Given the description of an element on the screen output the (x, y) to click on. 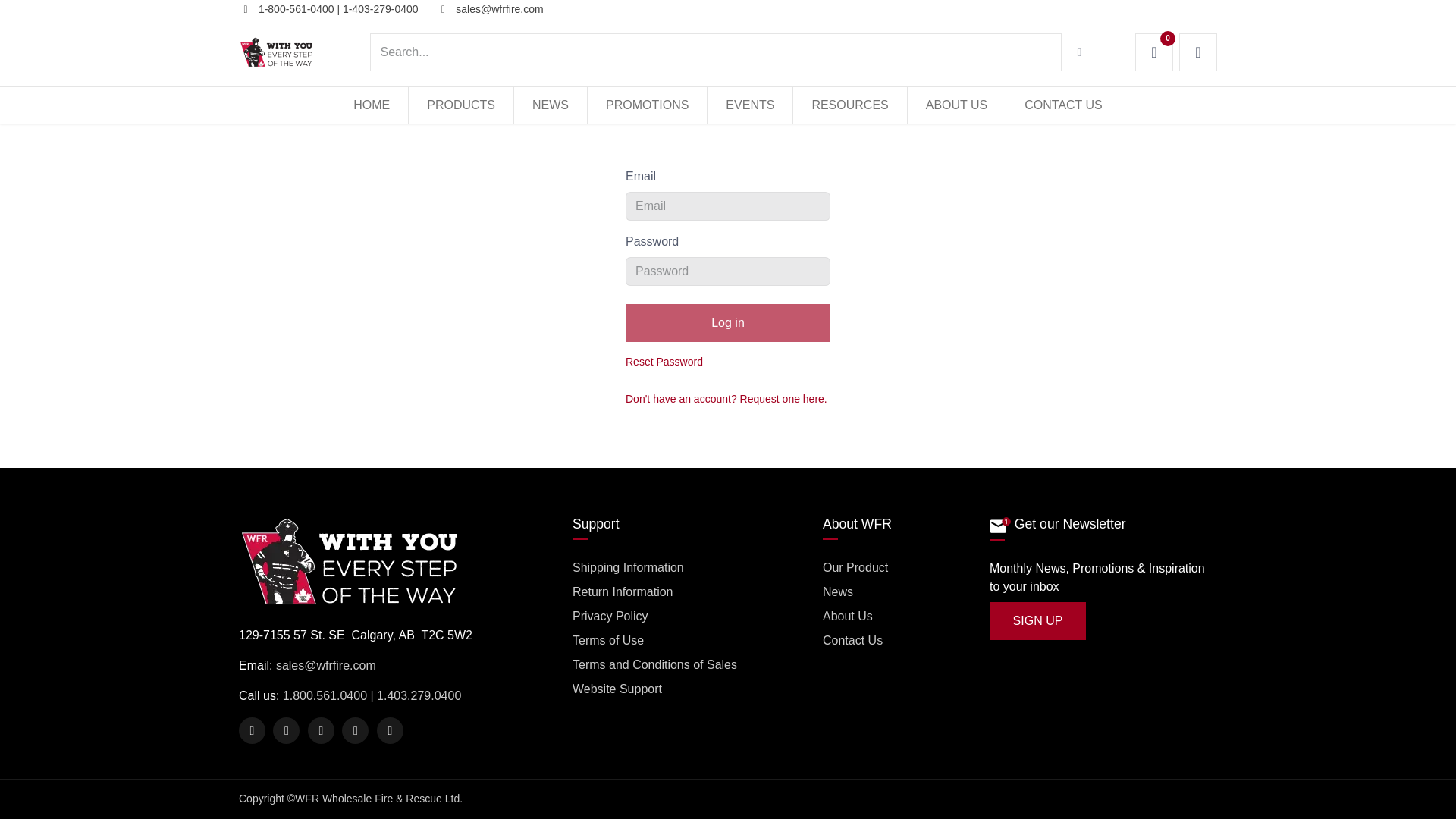
Search (1080, 52)
Don't have an account? Request one here. (726, 399)
HOME (370, 104)
Reset Password (664, 361)
EVENTS (749, 104)
CONTACT US (1063, 104)
ABOUT US (956, 104)
Sign in (1198, 52)
NEWS (549, 104)
Log in (727, 322)
PRODUCTS (461, 104)
RESOURCES (849, 104)
0 (1154, 52)
PROMOTIONS (647, 104)
